Given the description of an element on the screen output the (x, y) to click on. 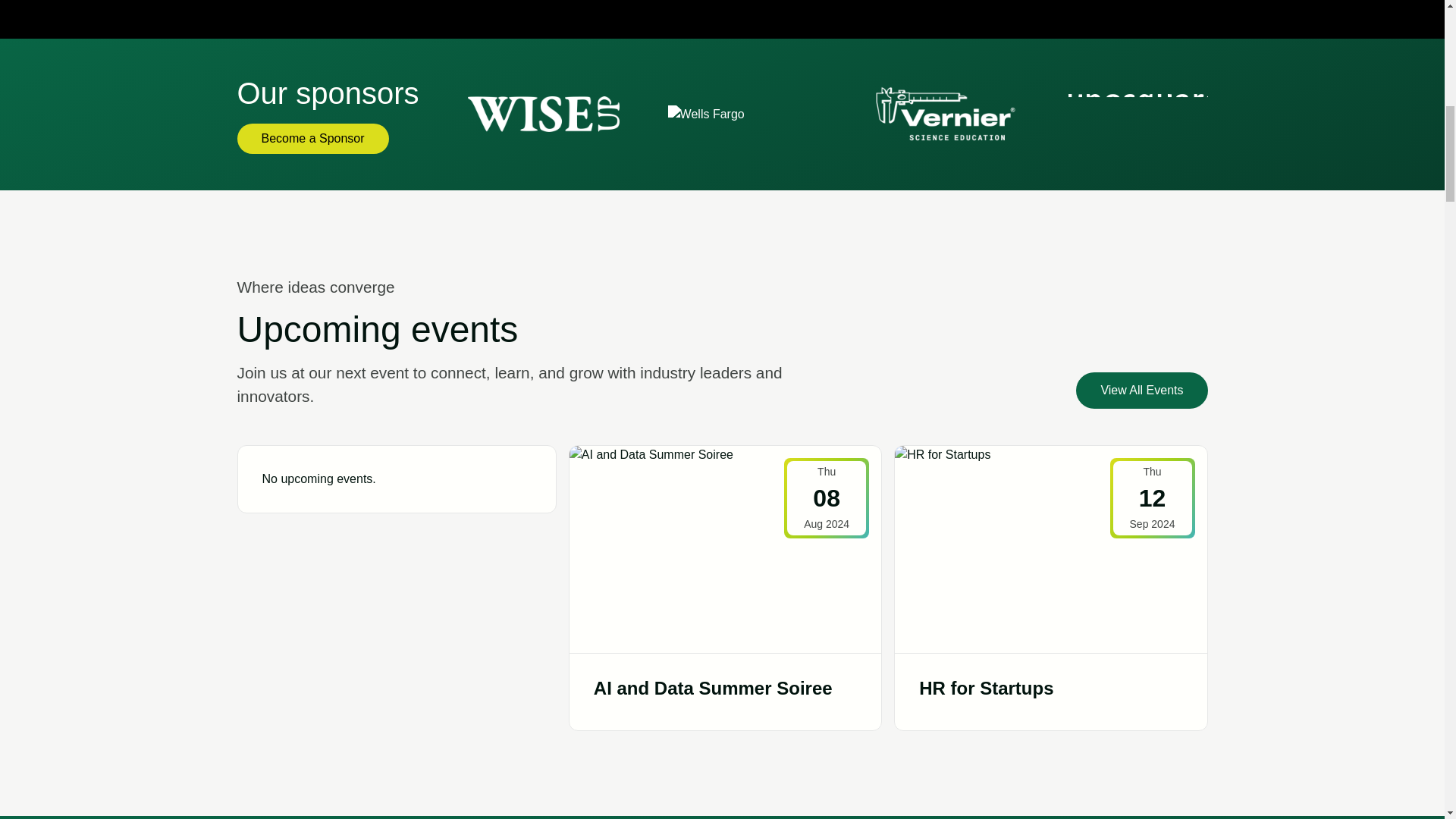
Wise Up (543, 113)
Vernier Science Education (943, 114)
Unosquare (1144, 114)
Wells Fargo (706, 113)
